Given the description of an element on the screen output the (x, y) to click on. 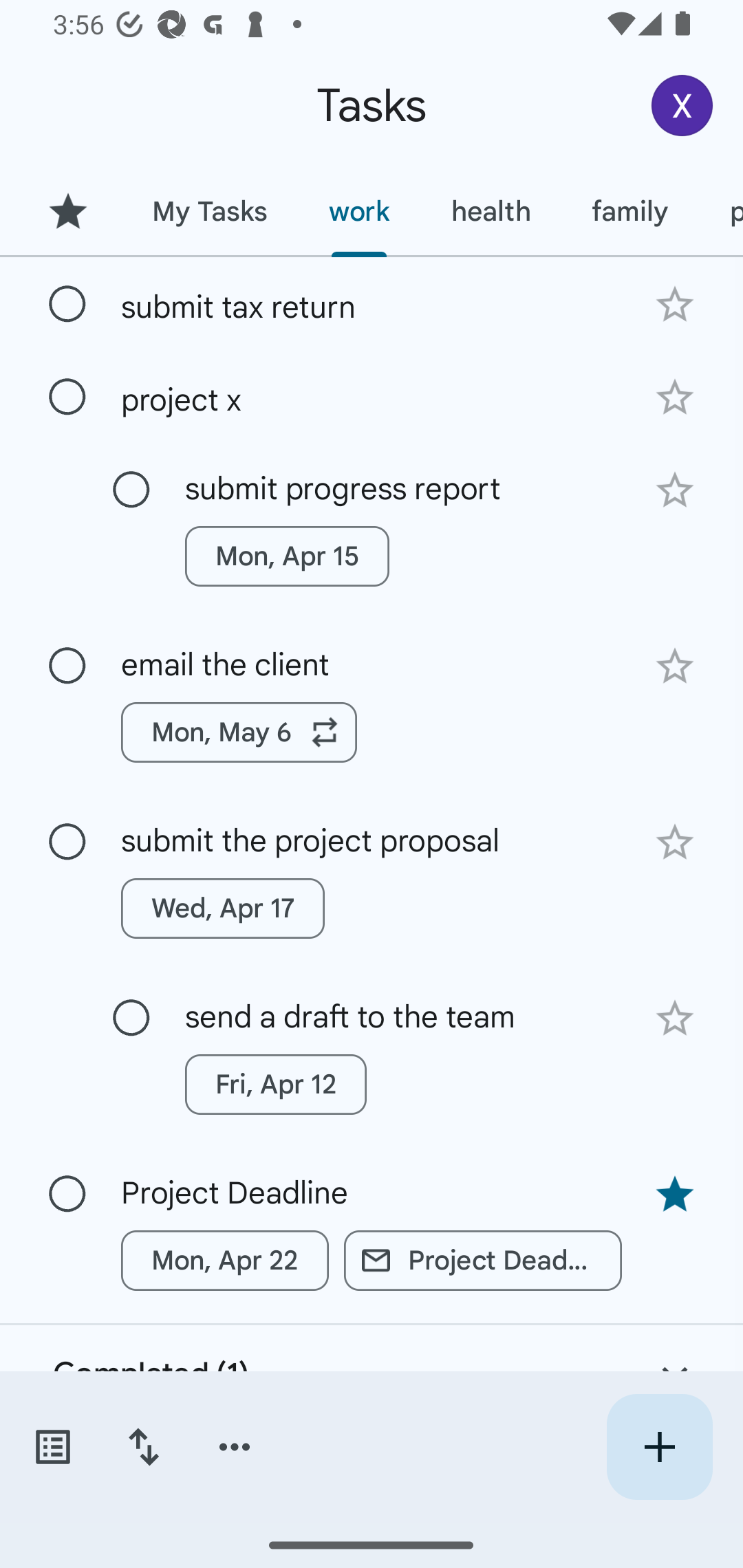
Starred (67, 211)
My Tasks (209, 211)
health (490, 211)
family (629, 211)
Add star (674, 303)
Mark as complete (67, 304)
Add star (674, 397)
Mark as complete (67, 397)
Add star (674, 490)
Mark as complete (131, 489)
Mon, Apr 15 (287, 556)
Add star (674, 665)
Mark as complete (67, 666)
Mon, May 6 (239, 731)
Add star (674, 841)
Mark as complete (67, 842)
Wed, Apr 17 (222, 907)
Add star (674, 1018)
Mark as complete (131, 1018)
Fri, Apr 12 (276, 1084)
Remove star (674, 1194)
Mark as complete (67, 1193)
Mon, Apr 22 (225, 1260)
Project Deadline Related link (482, 1260)
Switch task lists (52, 1447)
Create new task (659, 1446)
Change sort order (143, 1446)
More options (234, 1446)
